Given the description of an element on the screen output the (x, y) to click on. 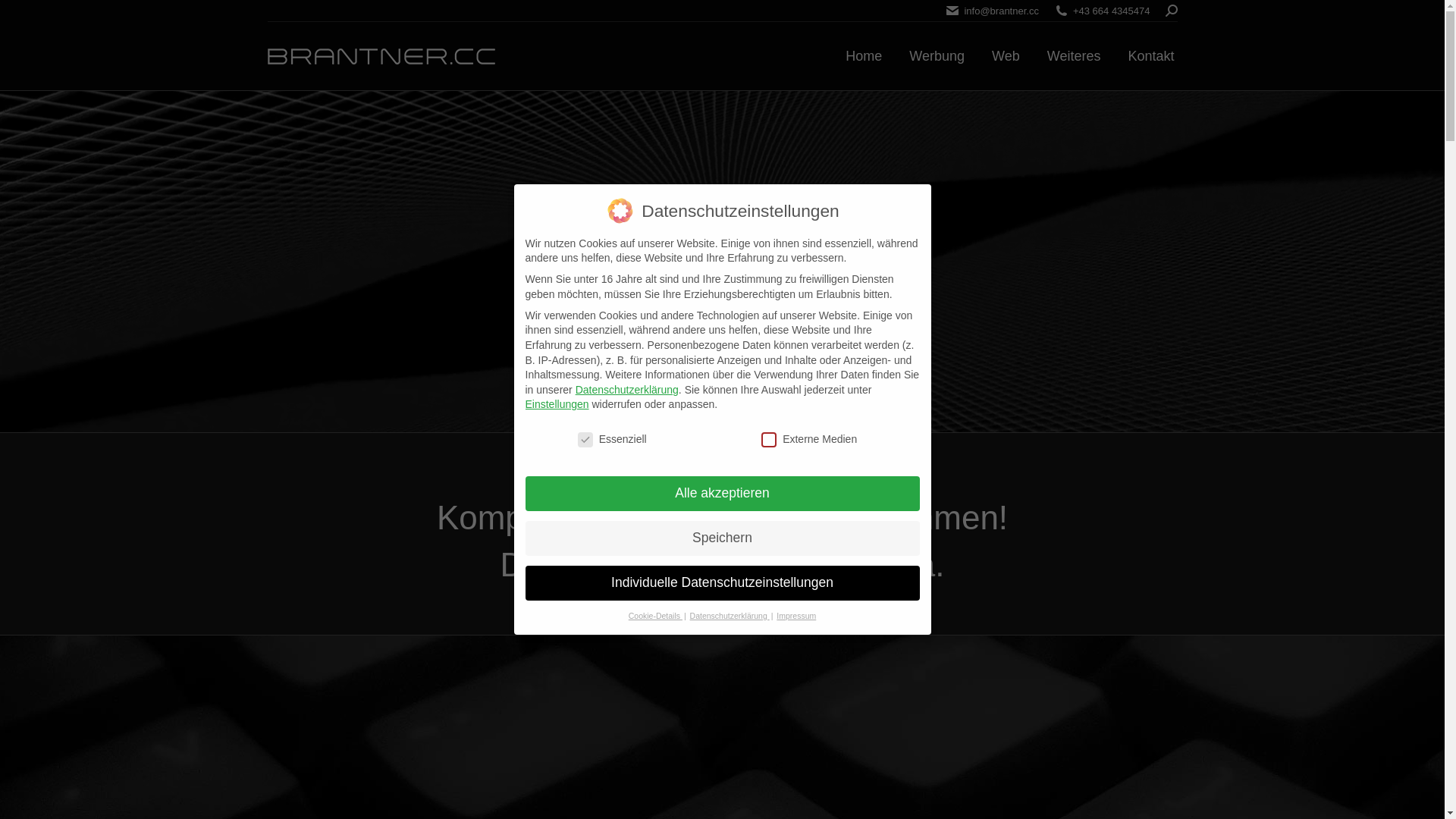
Alle akzeptieren Element type: text (721, 493)
Weiteres Element type: text (1074, 55)
Cookie-Details Element type: text (655, 615)
Web Element type: text (1005, 55)
Kontakt Element type: text (1150, 55)
Home Element type: text (863, 55)
Individuelle Datenschutzeinstellungen Element type: text (721, 582)
Einstellungen Element type: text (556, 404)
Los! Element type: text (25, 16)
Werbung Element type: text (936, 55)
Speichern Element type: text (721, 537)
Impressum Element type: text (795, 615)
